Given the description of an element on the screen output the (x, y) to click on. 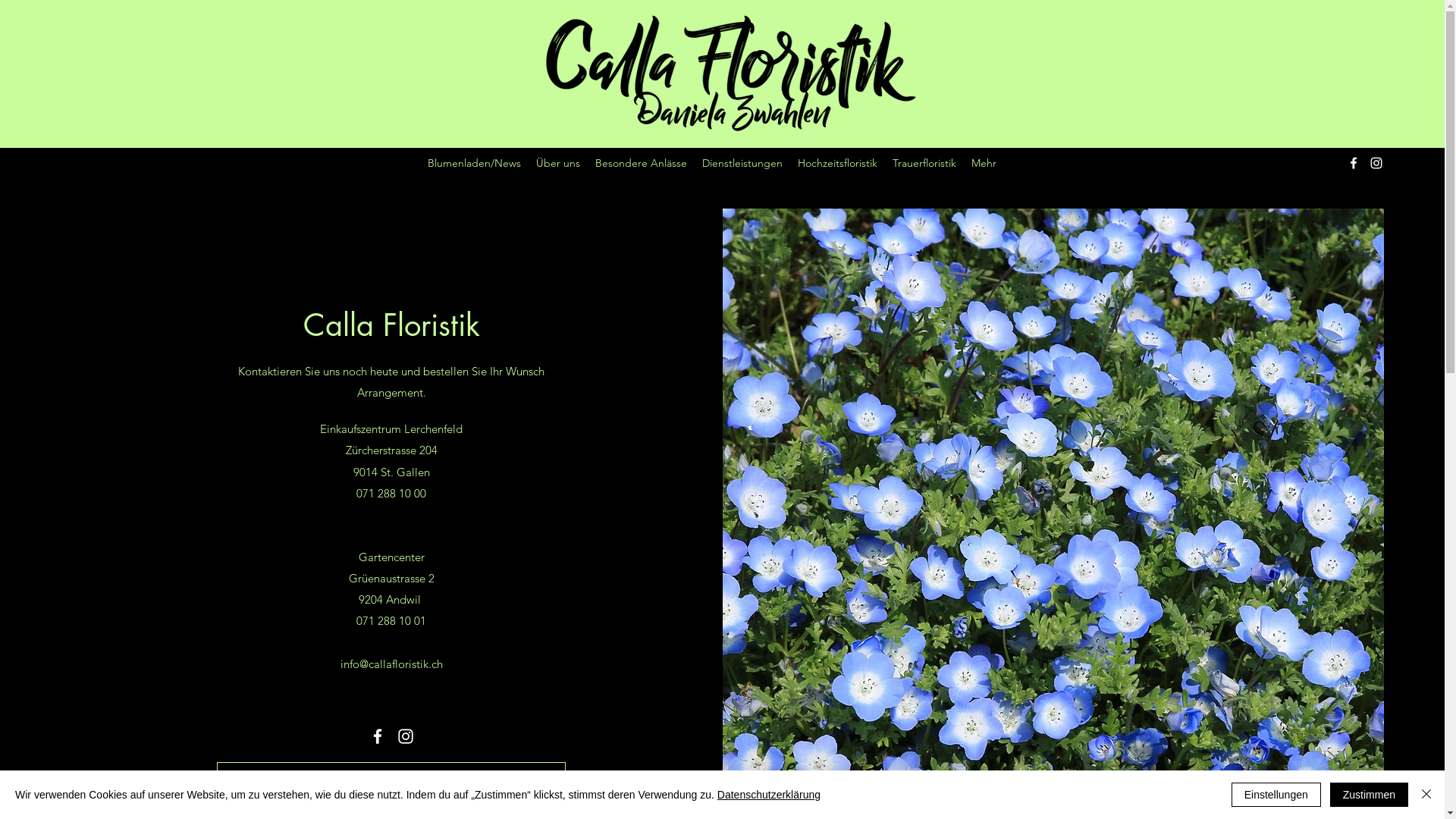
Dienstleistungen Element type: text (742, 162)
Trauerfloristik Element type: text (923, 162)
Blumenladen/News Element type: text (474, 162)
Zustimmen Element type: text (1369, 794)
Einstellungen Element type: text (1276, 794)
Hochzeitsfloristik Element type: text (837, 162)
info@callafloristik.ch Element type: text (391, 663)
